Given the description of an element on the screen output the (x, y) to click on. 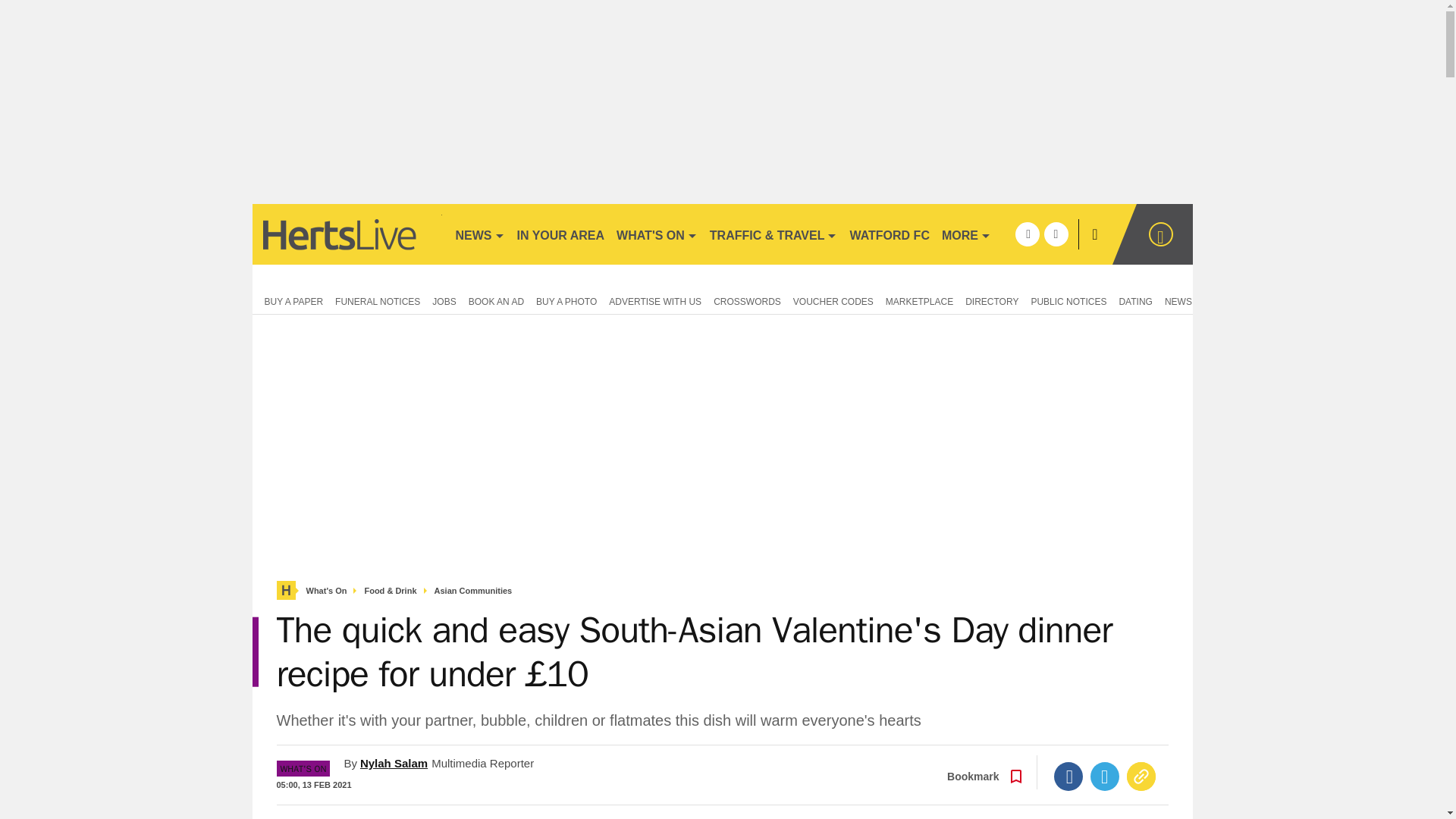
MORE (966, 233)
WHAT'S ON (656, 233)
Facebook (1068, 776)
facebook (1026, 233)
hertfordshiremercury (346, 233)
IN YOUR AREA (561, 233)
Twitter (1104, 776)
WATFORD FC (888, 233)
NEWS (479, 233)
twitter (1055, 233)
